Given the description of an element on the screen output the (x, y) to click on. 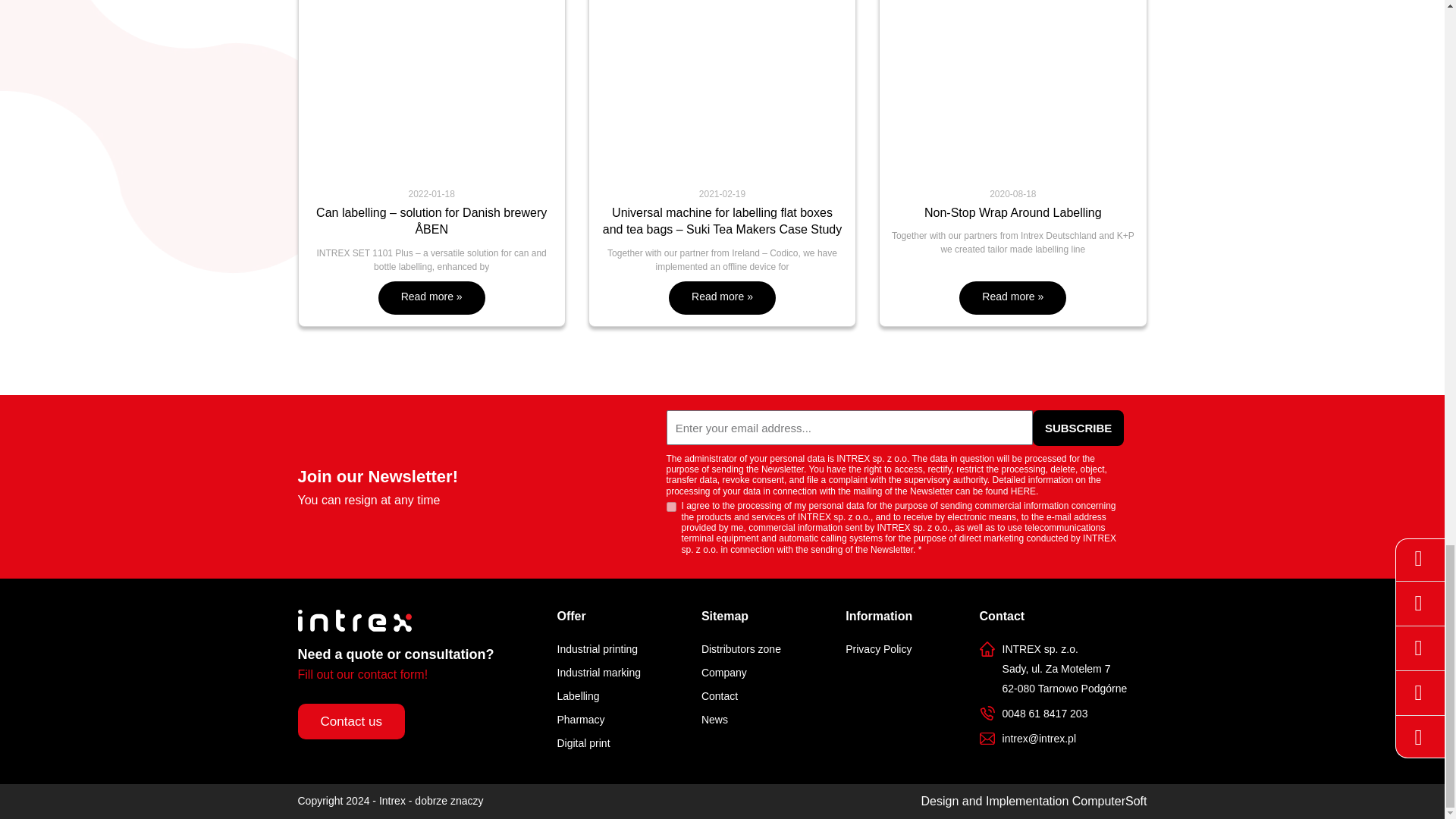
on (670, 506)
